Given the description of an element on the screen output the (x, y) to click on. 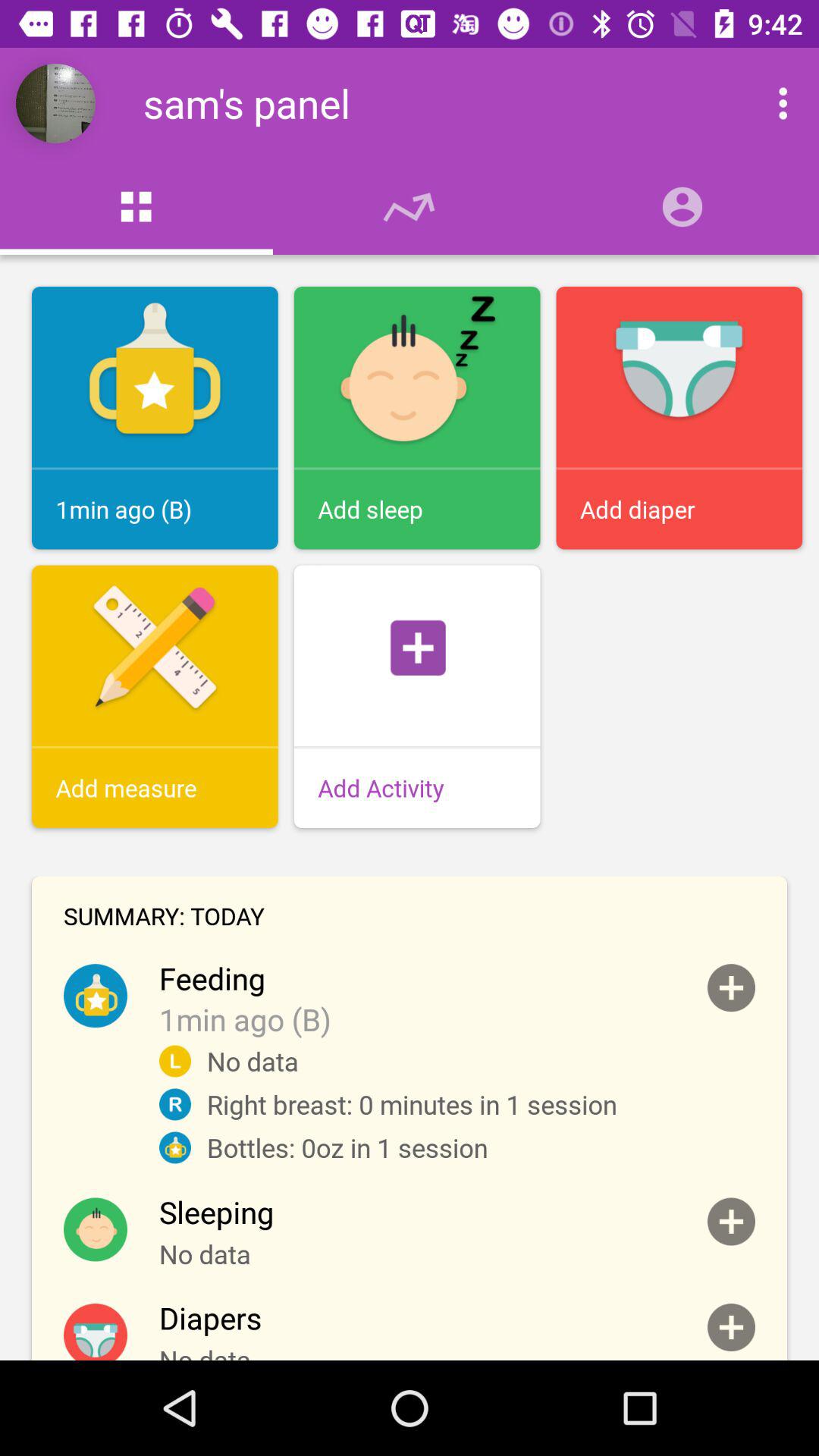
see more options (767, 103)
